Given the description of an element on the screen output the (x, y) to click on. 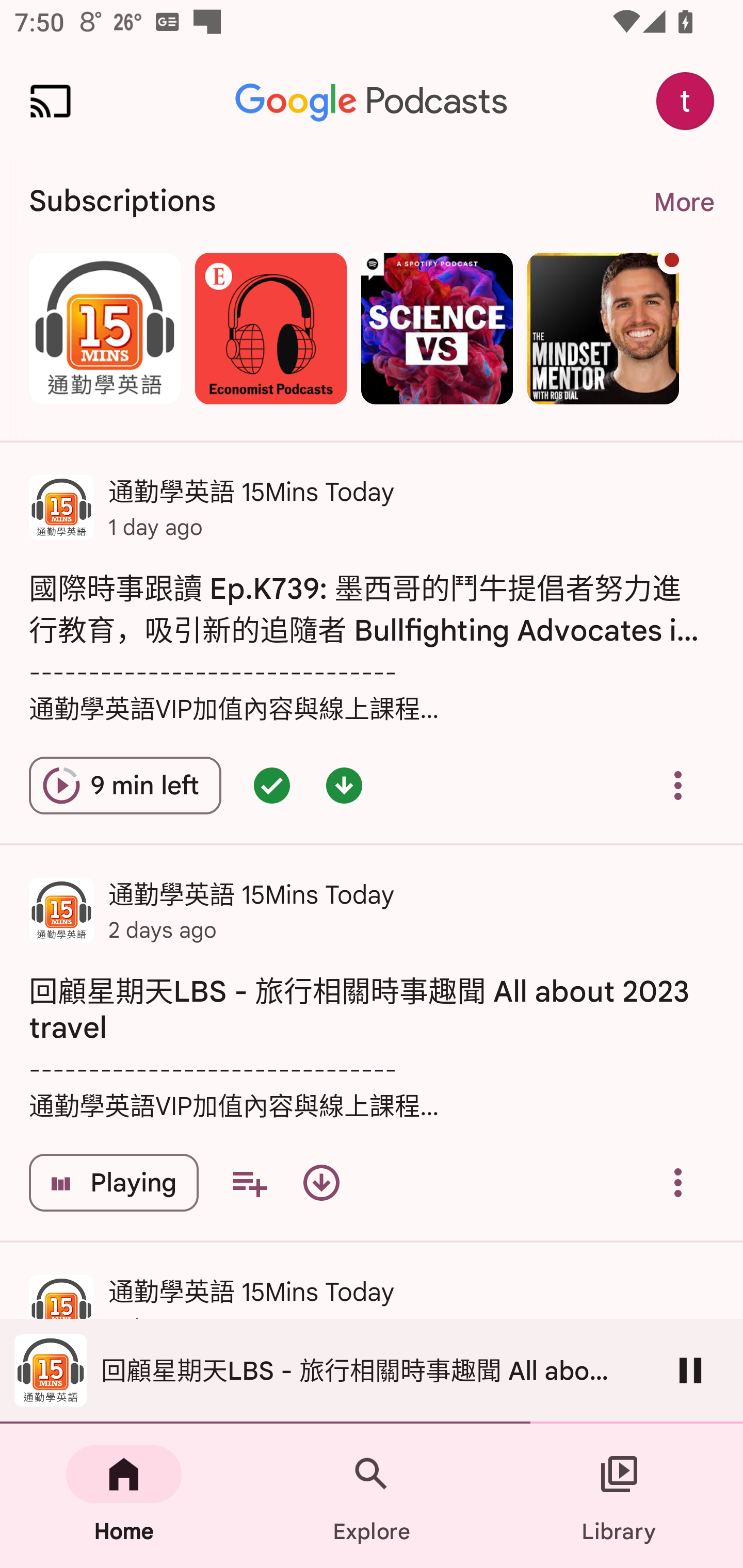
Cast. Disconnected (50, 101)
More More. Navigate to subscriptions page. (683, 202)
通勤學英語 15Mins Today (104, 328)
Economist Podcasts (270, 328)
Science Vs (436, 328)
The Mindset Mentor (603, 328)
Episode queued - double tap for options (271, 785)
Episode downloaded - double tap for options (344, 785)
Overflow menu (677, 785)
Add to your queue (249, 1182)
Download episode (321, 1182)
Overflow menu (677, 1182)
Pause (690, 1370)
Explore (371, 1495)
Library (619, 1495)
